Given the description of an element on the screen output the (x, y) to click on. 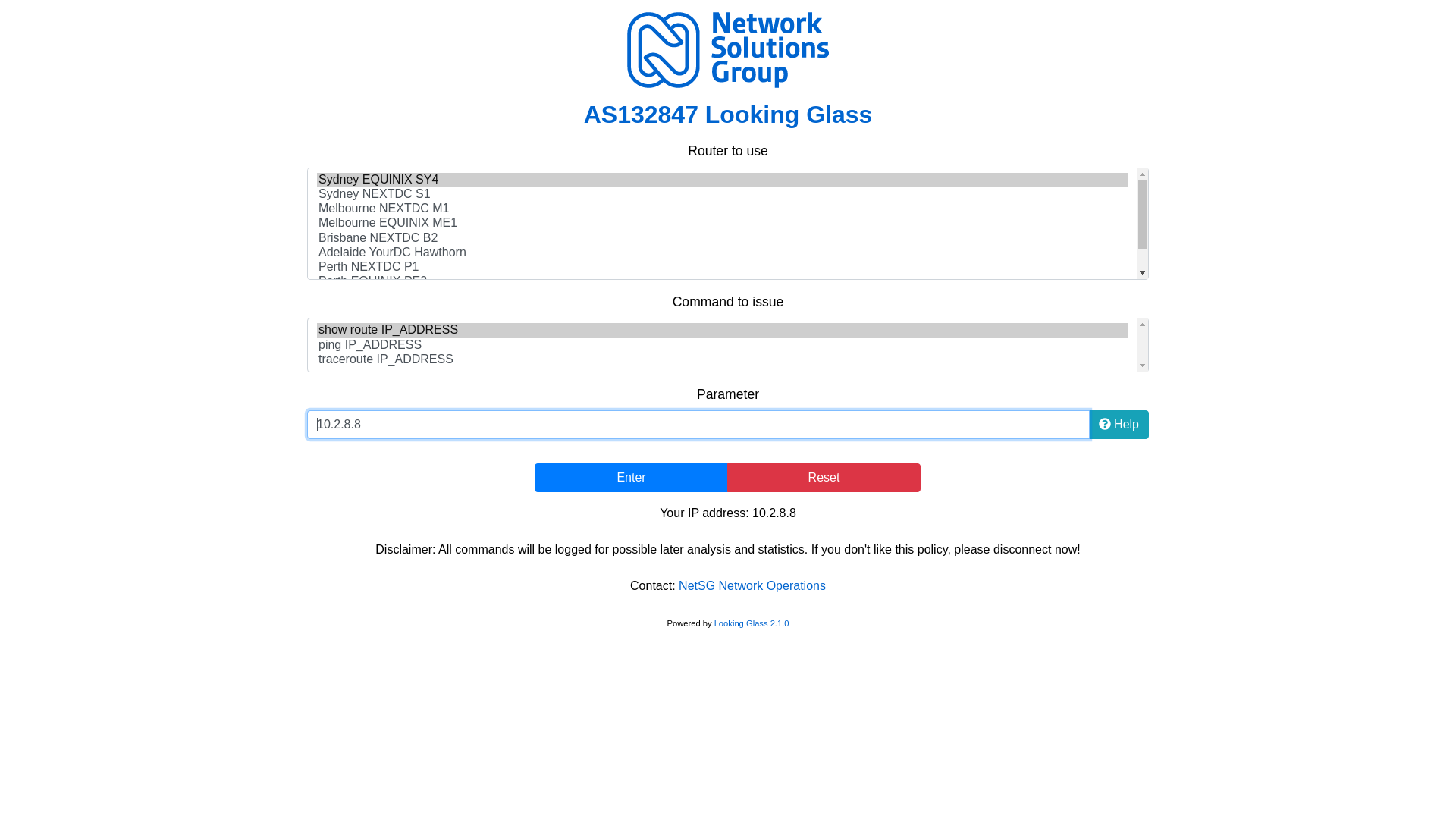
Enter Element type: text (631, 477)
Reset Element type: text (823, 477)
Help Element type: text (1118, 424)
NetSG Network Operations Element type: text (751, 585)
Looking Glass 2.1.0 Element type: text (751, 622)
